Given the description of an element on the screen output the (x, y) to click on. 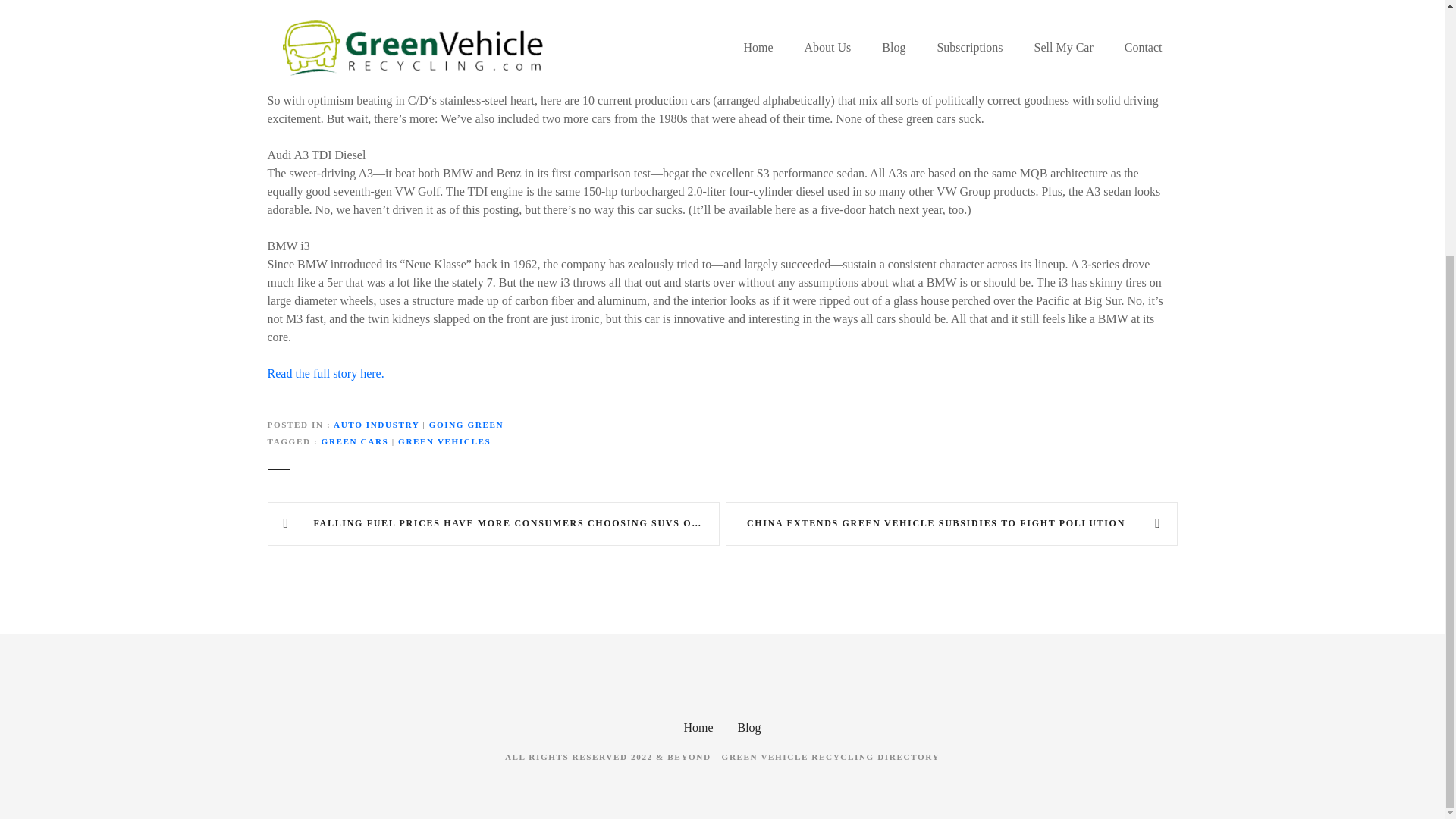
GREEN VEHICLES (443, 440)
GOING GREEN (466, 424)
Blog (748, 727)
CHINA EXTENDS GREEN VEHICLE SUBSIDIES TO FIGHT POLLUTION (950, 524)
Home (697, 727)
AUTO INDUSTRY (376, 424)
Read the full story here. (325, 373)
GREEN CARS (354, 440)
